Given the description of an element on the screen output the (x, y) to click on. 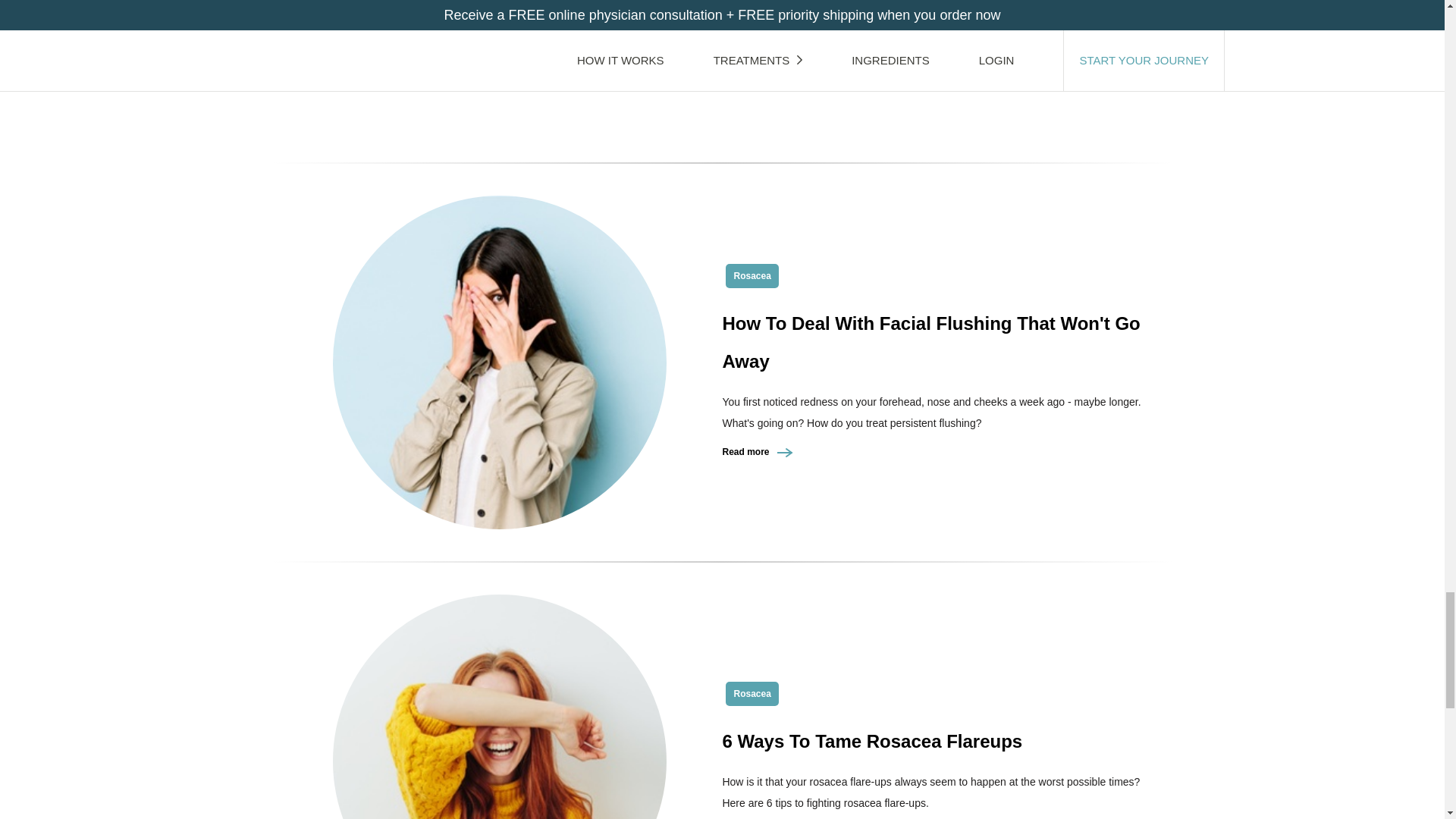
Read more   (758, 451)
How To Deal With Facial Flushing That Won't Go Away (931, 341)
Read more   (758, 34)
6 Ways To Tame Rosacea Flareups (872, 741)
